Given the description of an element on the screen output the (x, y) to click on. 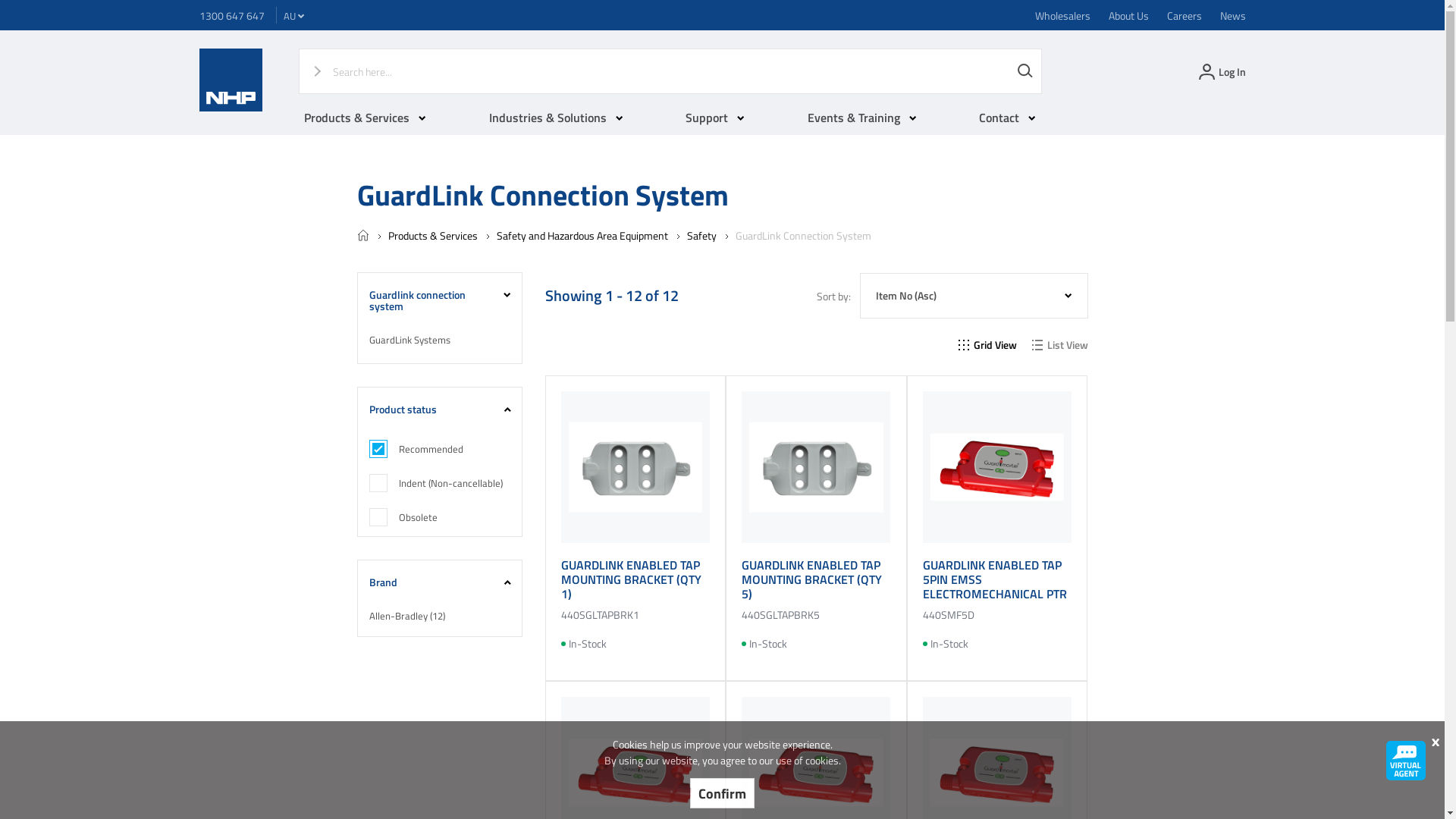
Confirm Element type: text (722, 793)
Home Element type: hover (362, 236)
Wholesalers Element type: text (1061, 15)
Log In Element type: text (1220, 71)
Safety and Hazardous Area Equipment Element type: text (581, 235)
1300 647 647 Element type: text (230, 15)
Careers Element type: text (1183, 15)
Grid View Element type: text (987, 344)
GuardLink Connection System Element type: text (803, 235)
GuardLink Systems Element type: text (439, 340)
Safety Element type: text (701, 235)
About Us Element type: text (1128, 15)
Search Element type: text (1024, 70)
List View Element type: text (1059, 344)
Events & Training Element type: text (861, 117)
GUARDLINK ENABLED TAP MOUNTING BRACKET (QTY 1) Element type: text (631, 578)
GUARDLINK ENABLED TAP MOUNTING BRACKET (QTY 5) Element type: text (811, 578)
News Element type: text (1232, 15)
GUARDLINK ENABLED TAP 5PIN EMSS ELECTROMECHANICAL PTR Element type: text (994, 578)
X Element type: text (1434, 741)
Support Element type: text (714, 117)
Industries & Solutions Element type: text (556, 117)
Products & Services Element type: text (365, 117)
Contact Element type: text (1007, 117)
Products & Services Element type: text (432, 235)
Logo Element type: hover (229, 107)
